Given the description of an element on the screen output the (x, y) to click on. 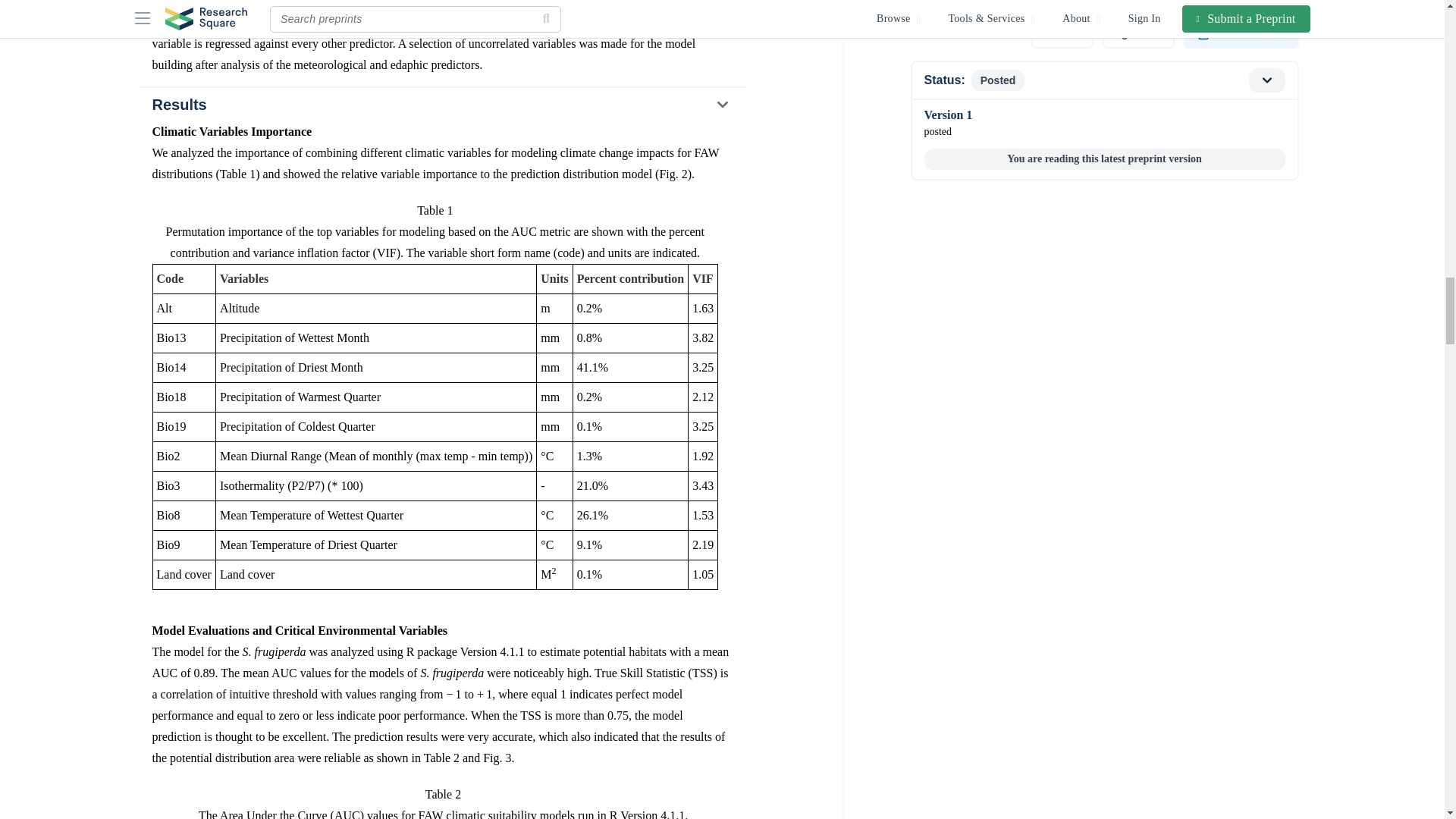
Results (442, 104)
